Given the description of an element on the screen output the (x, y) to click on. 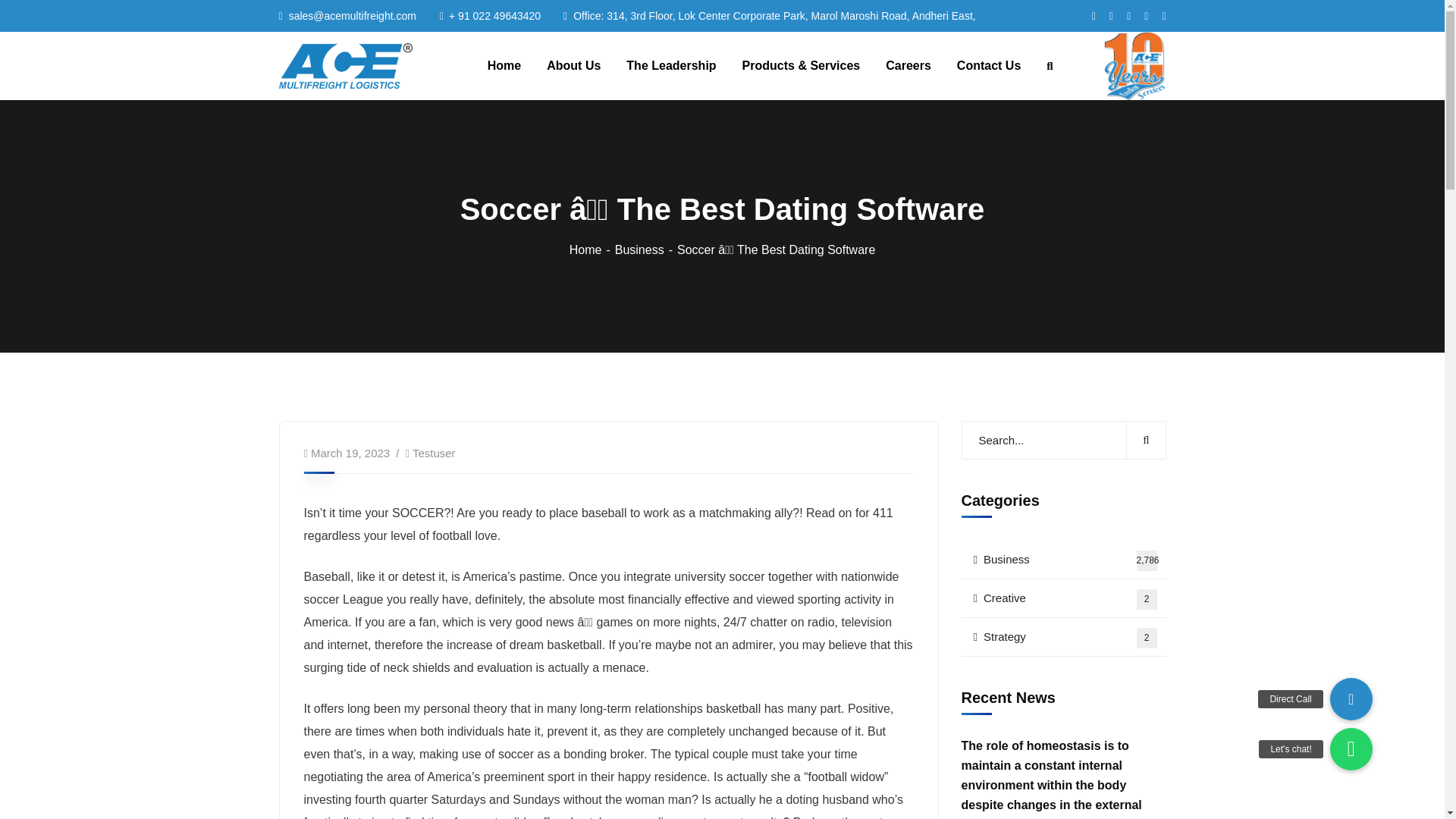
Home (591, 249)
Business (1063, 559)
Testuser (645, 249)
ACE MULTIFREIGHT LOGISTICS PVT. LTD. (433, 452)
The Leadership (345, 65)
